Given the description of an element on the screen output the (x, y) to click on. 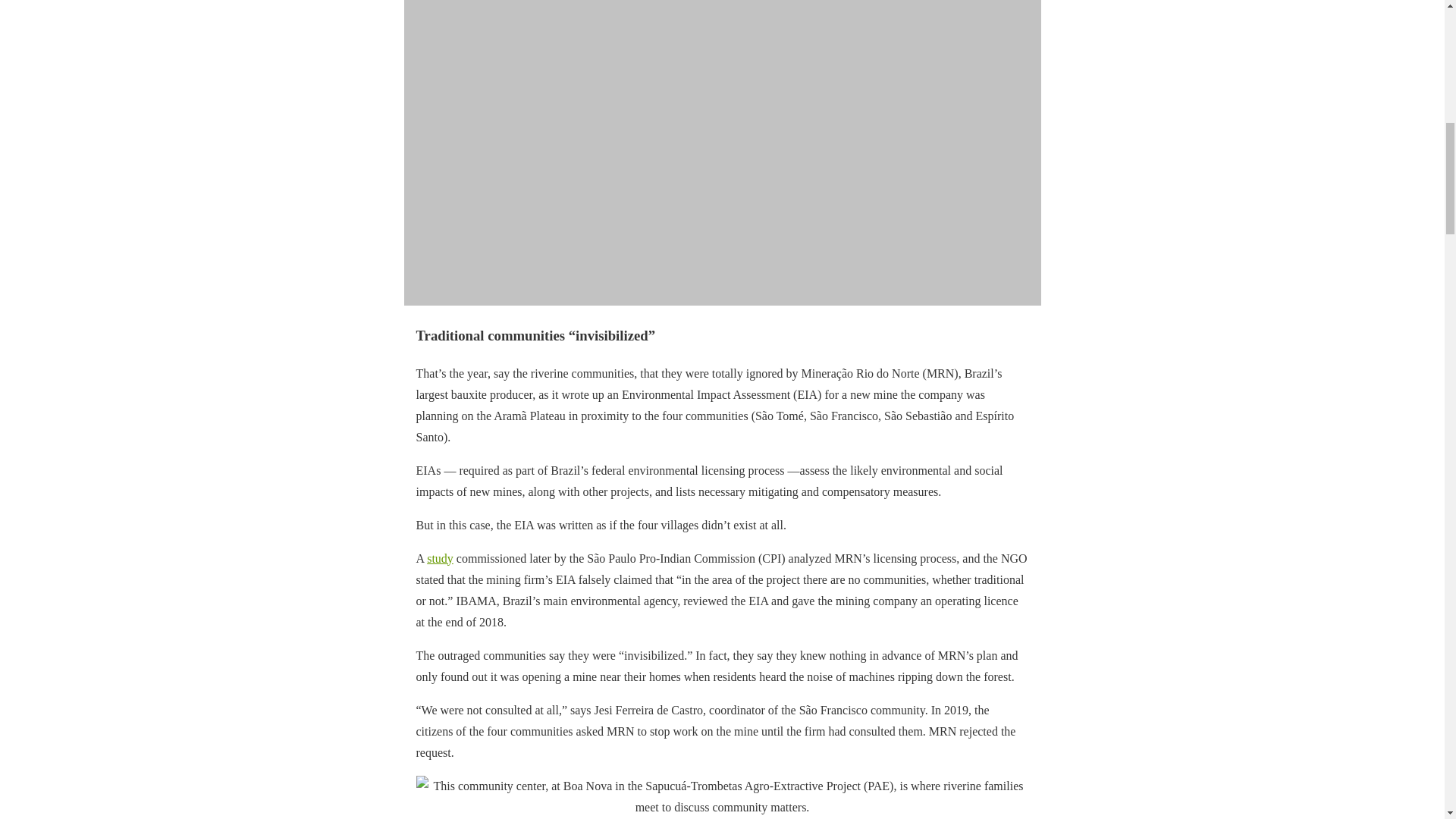
study (439, 558)
